Given the description of an element on the screen output the (x, y) to click on. 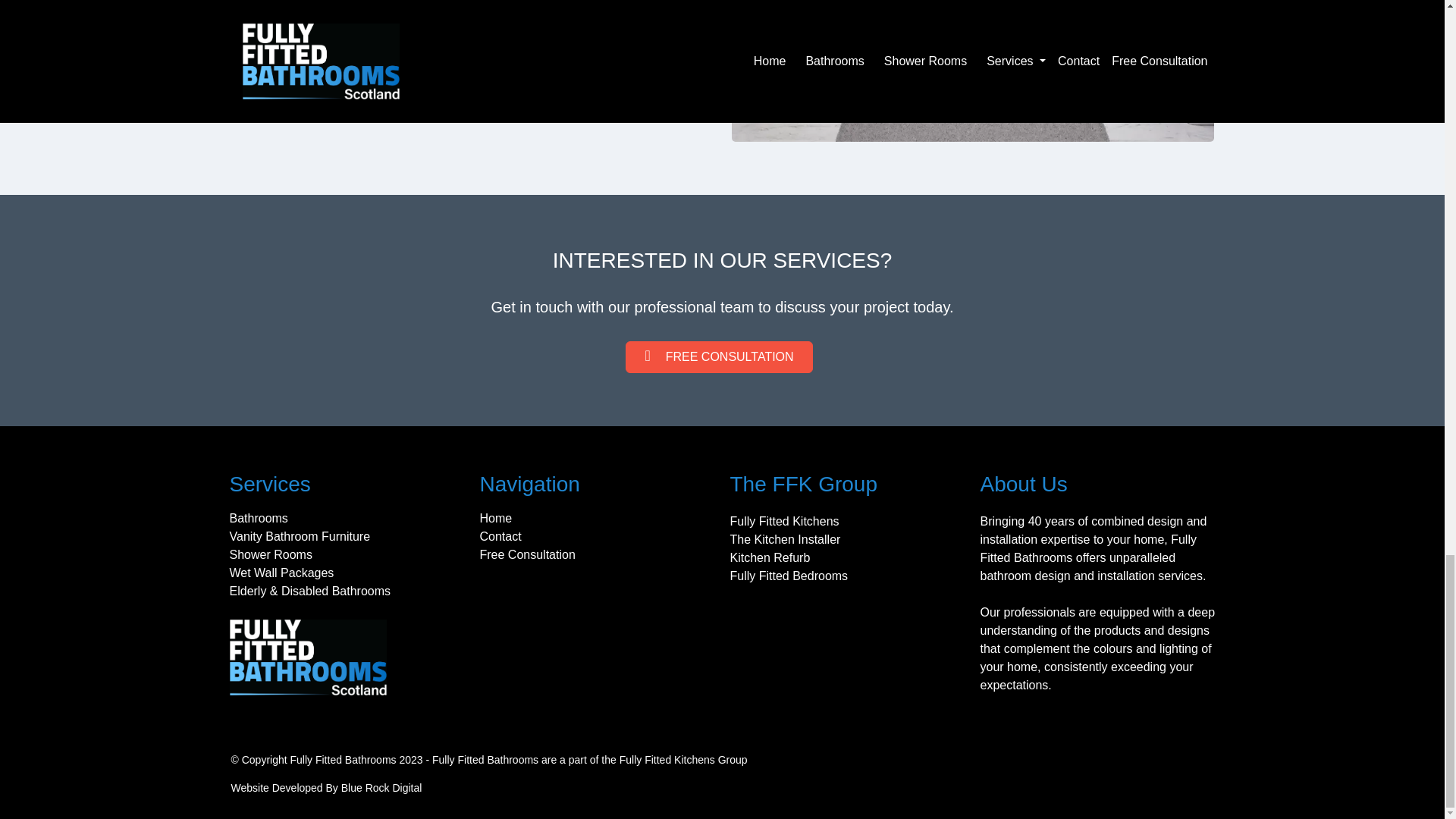
Blue Rock Digital (381, 787)
Home (600, 518)
Fully Fitted Bedrooms (850, 576)
Kitchen Refurb (850, 557)
Fully Fitted Kitchens (850, 521)
Bathrooms (349, 518)
Vanity Bathroom Furniture (349, 536)
FREE CONSULTATION (719, 357)
Free Consultation (600, 555)
Wet Wall Packages (349, 573)
Contact (600, 536)
The Kitchen Installer (850, 539)
Shower Rooms (349, 555)
